Given the description of an element on the screen output the (x, y) to click on. 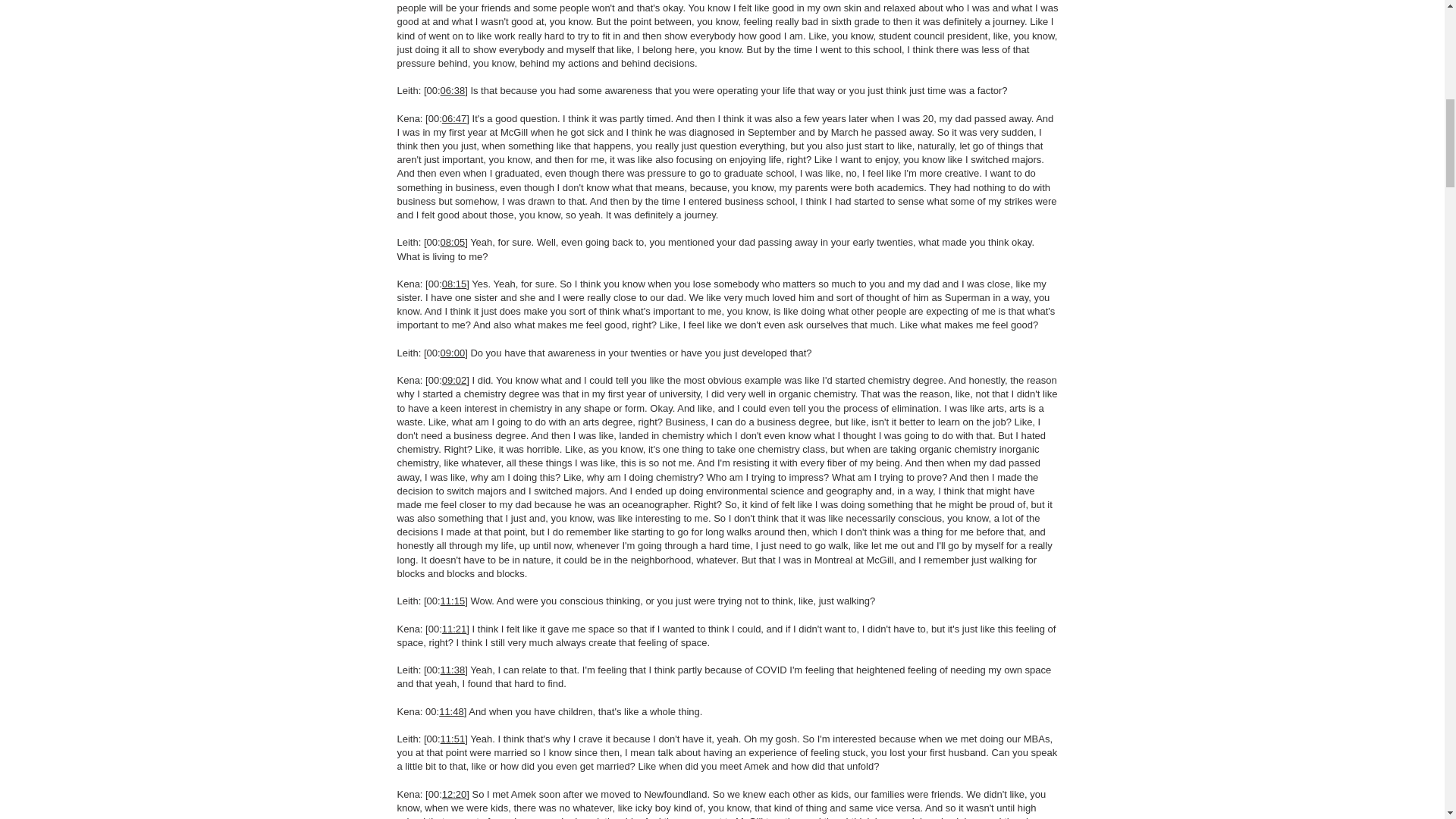
08:15 (454, 283)
09:02 (454, 379)
06:38 (453, 90)
12:20 (454, 794)
11:15 (453, 600)
09:00 (453, 352)
06:47 (454, 118)
11:48 (451, 711)
11:21 (454, 628)
08:05 (453, 242)
